Given the description of an element on the screen output the (x, y) to click on. 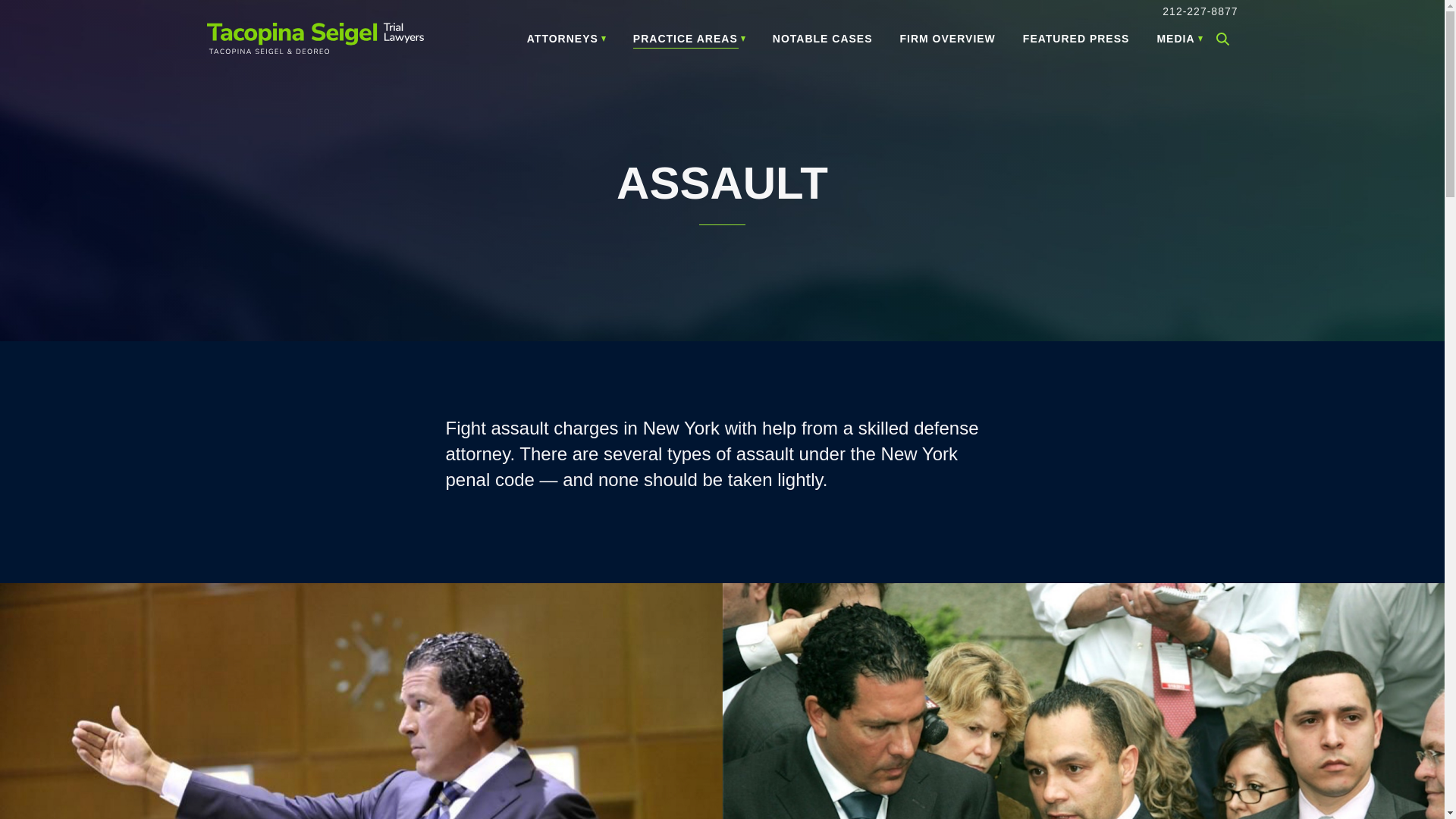
PRACTICE AREAS (689, 38)
212-227-8877 (1199, 11)
FEATURED PRESS (1076, 38)
FIRM OVERVIEW (947, 38)
MEDIA (1179, 38)
ATTORNEYS (566, 38)
NOTABLE CASES (822, 38)
